Given the description of an element on the screen output the (x, y) to click on. 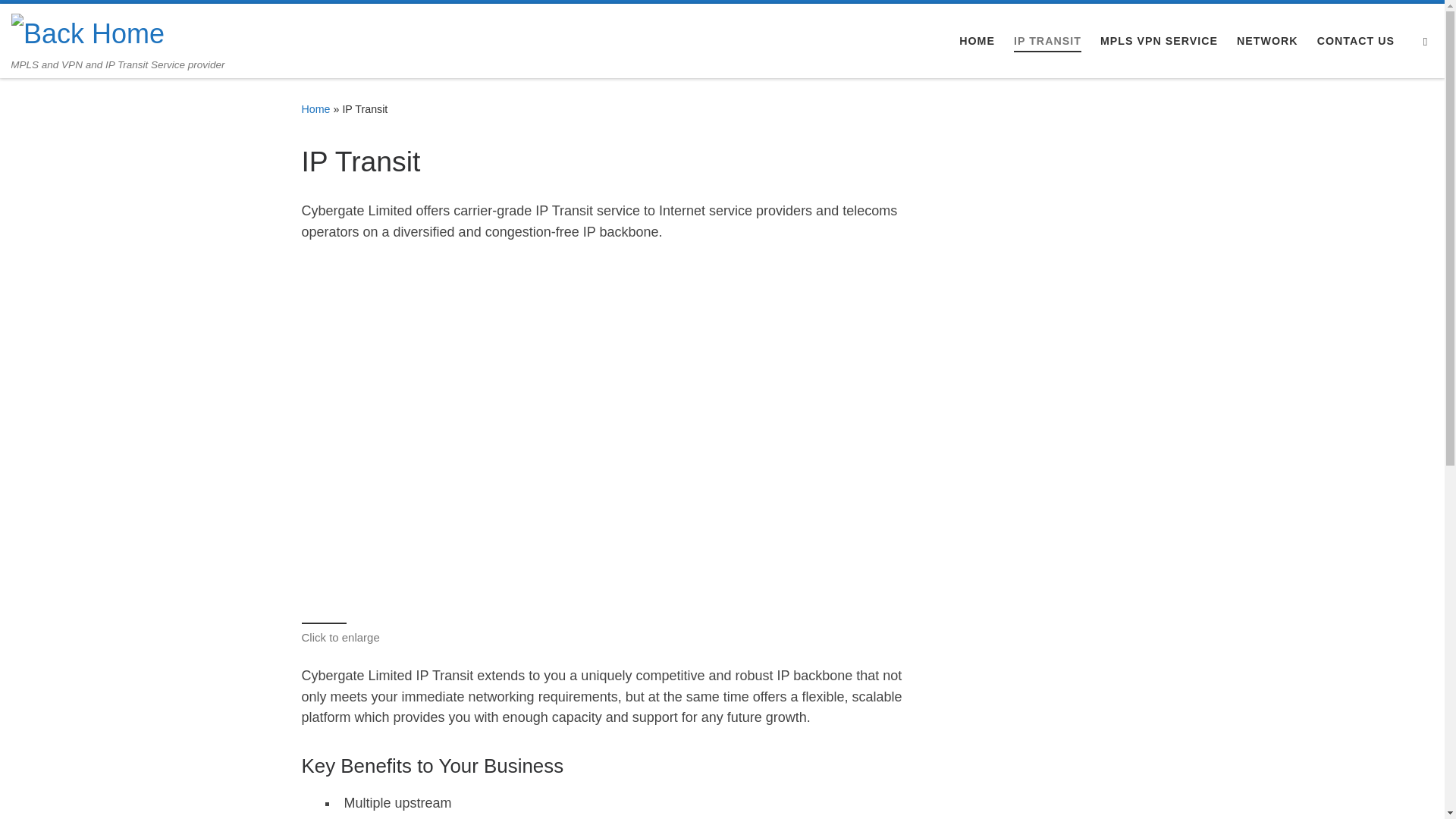
CONTACT US Element type: text (1355, 40)
NETWORK Element type: text (1267, 40)
IP Transit Element type: hover (478, 431)
Home Element type: text (315, 109)
IP TRANSIT Element type: text (1047, 40)
Search Element type: text (1424, 41)
Skip to content Element type: text (61, 20)
HOME Element type: text (976, 40)
MPLS VPN SERVICE Element type: text (1159, 40)
